Given the description of an element on the screen output the (x, y) to click on. 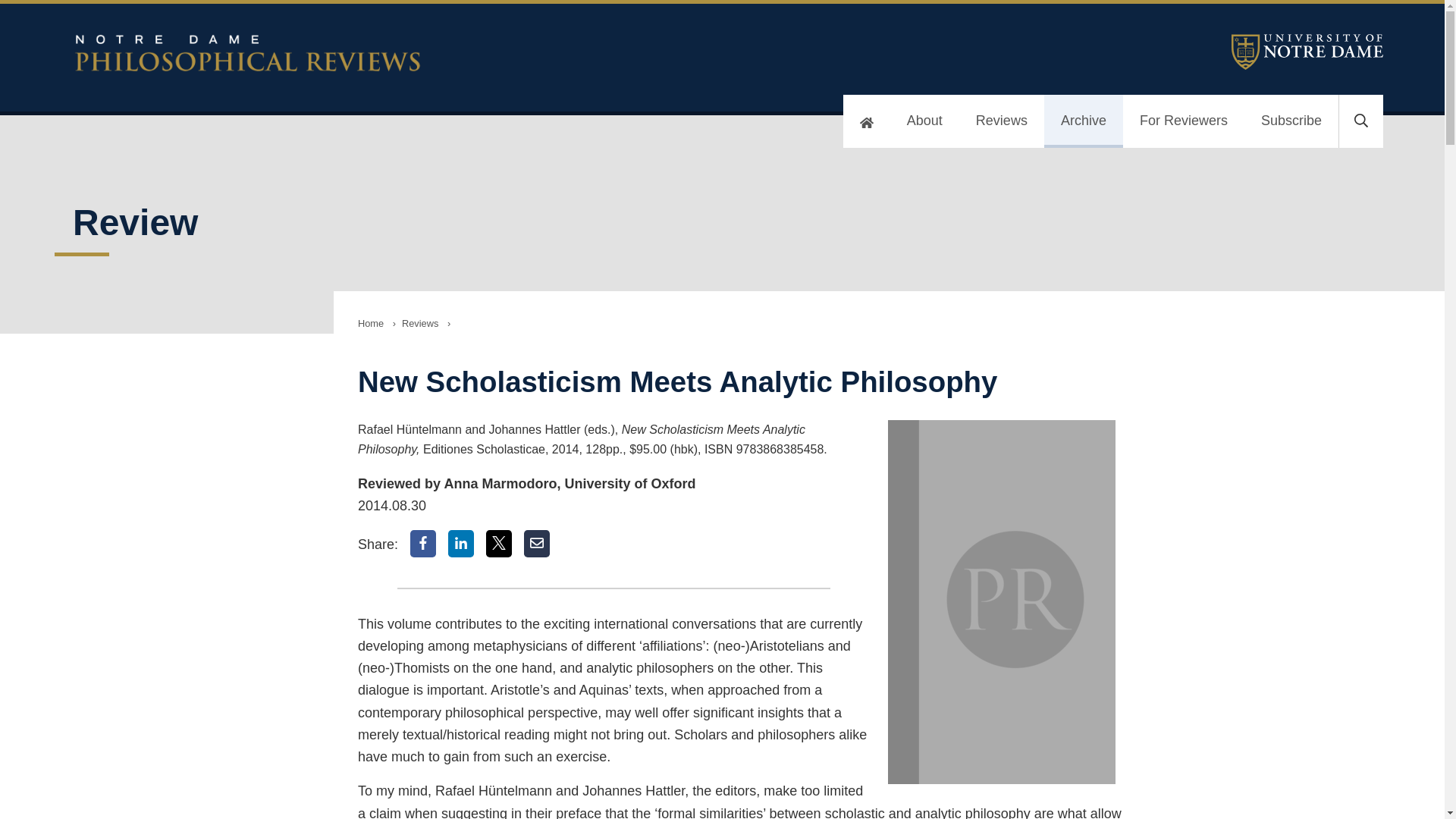
Reviews (420, 323)
Facebook (422, 543)
Reviews (1001, 121)
For Reviewers (1183, 121)
University of Notre Dame (1307, 51)
Home (371, 323)
Subscribe (1291, 121)
About (924, 121)
Archive (1082, 121)
Email (537, 543)
Notre Dame Philosophical Reviews (436, 53)
LinkedIn (461, 543)
